Given the description of an element on the screen output the (x, y) to click on. 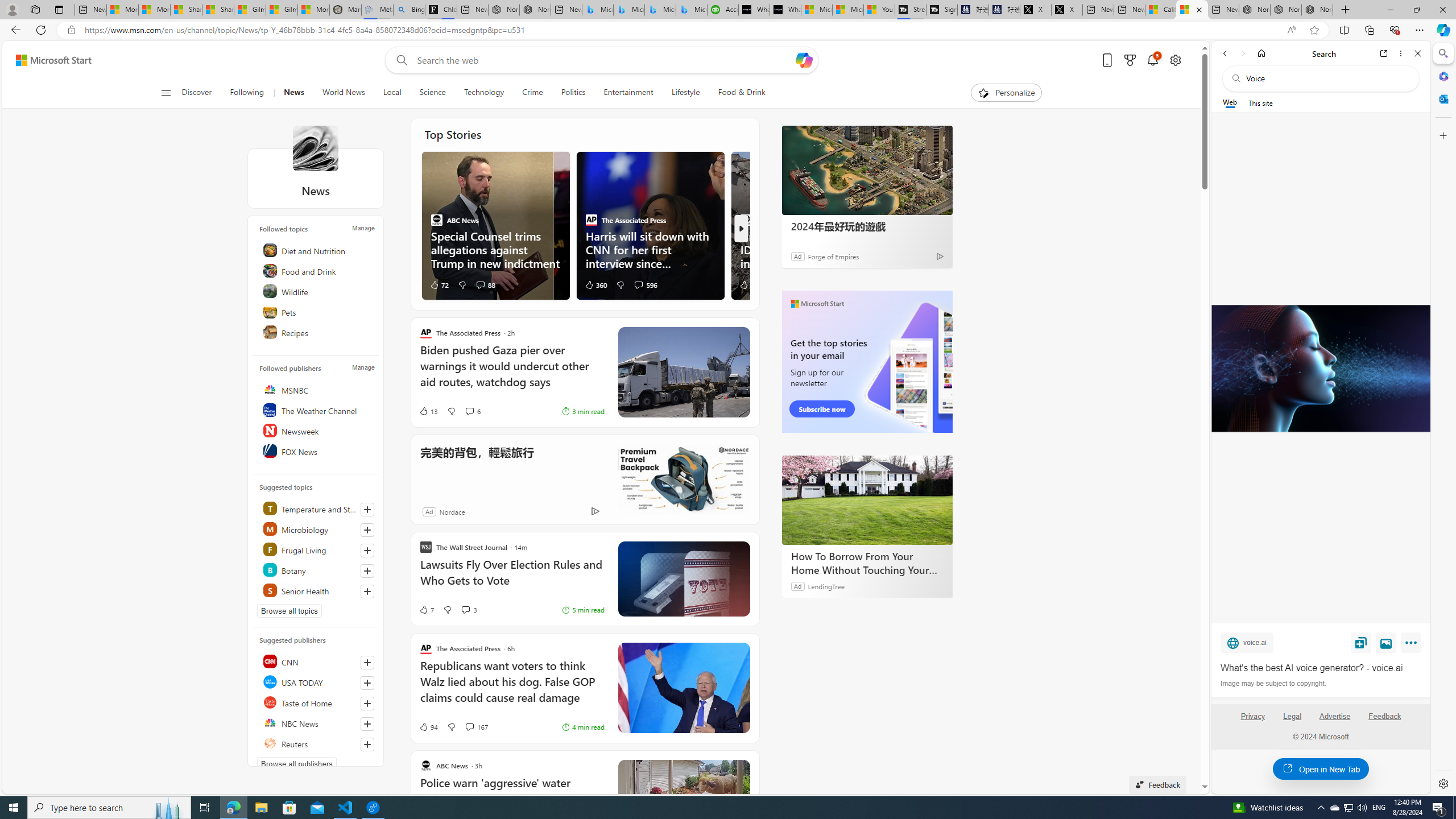
Entertainment (627, 92)
Shanghai, China weather forecast | Microsoft Weather (218, 9)
Advertise (1335, 715)
Skip to footer (46, 59)
